Given the description of an element on the screen output the (x, y) to click on. 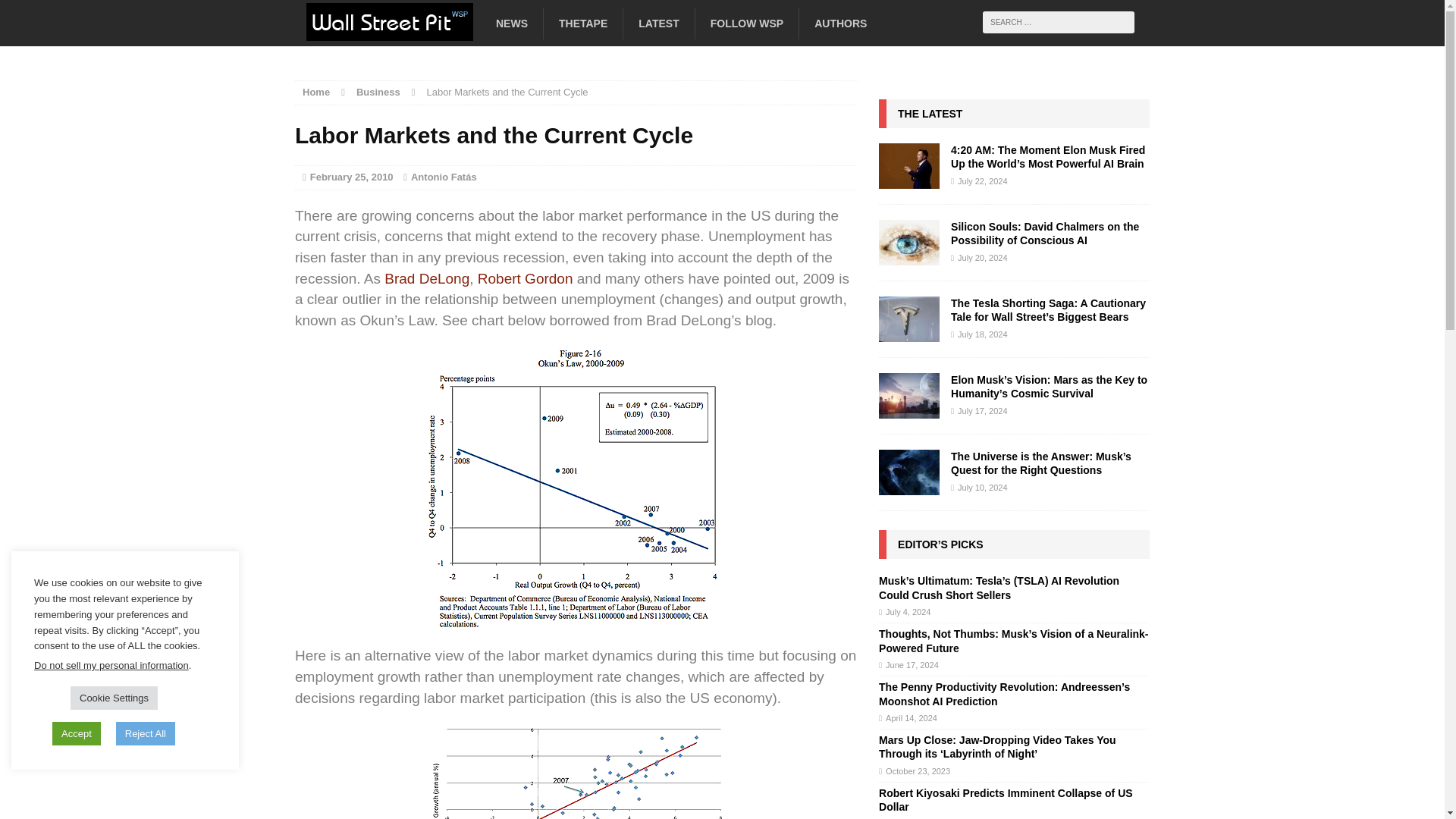
THETAPE (583, 23)
LATEST (658, 23)
Wall Street Pit (427, 28)
NEWS (511, 23)
